Given the description of an element on the screen output the (x, y) to click on. 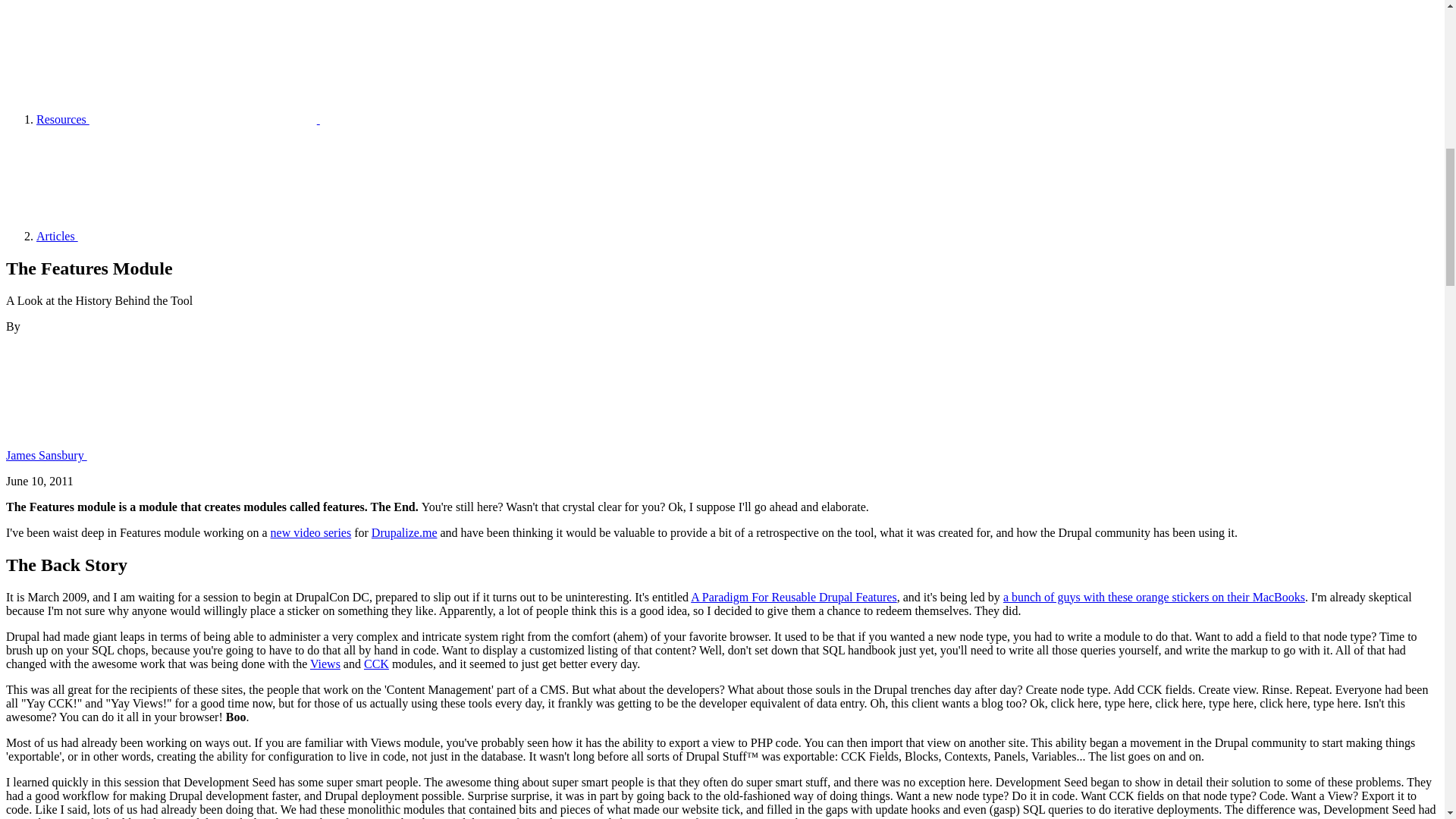
Resources (178, 119)
A Paradigm For Reusable Drupal Features (793, 596)
James Sansbury (159, 454)
Articles (170, 236)
a bunch of guys with these orange stickers on their MacBooks (1153, 596)
CCK (376, 663)
Drupalize.me (404, 532)
new video series (311, 532)
Views (325, 663)
